Given the description of an element on the screen output the (x, y) to click on. 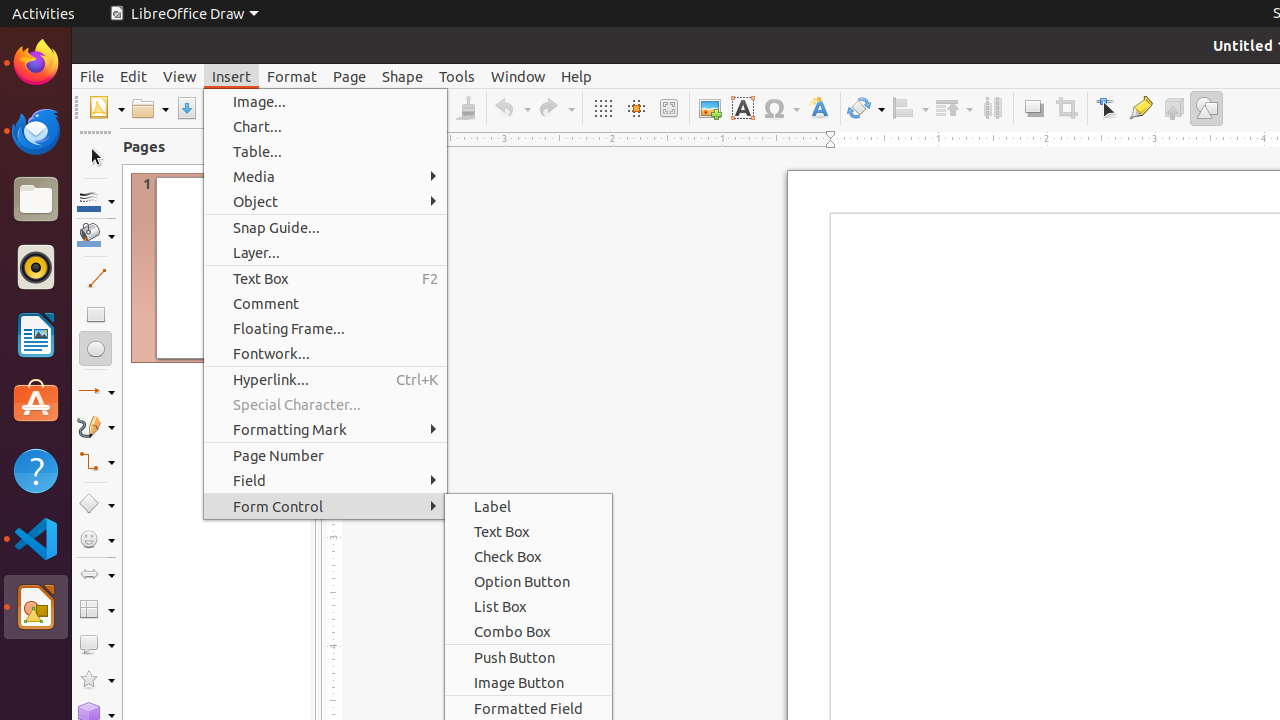
Combo Box Element type: check-menu-item (528, 631)
Form Control Element type: menu (325, 506)
Draw Functions Element type: toggle-button (1206, 108)
Edit Points Element type: push-button (1107, 108)
Fontwork... Element type: menu-item (325, 353)
